Given the description of an element on the screen output the (x, y) to click on. 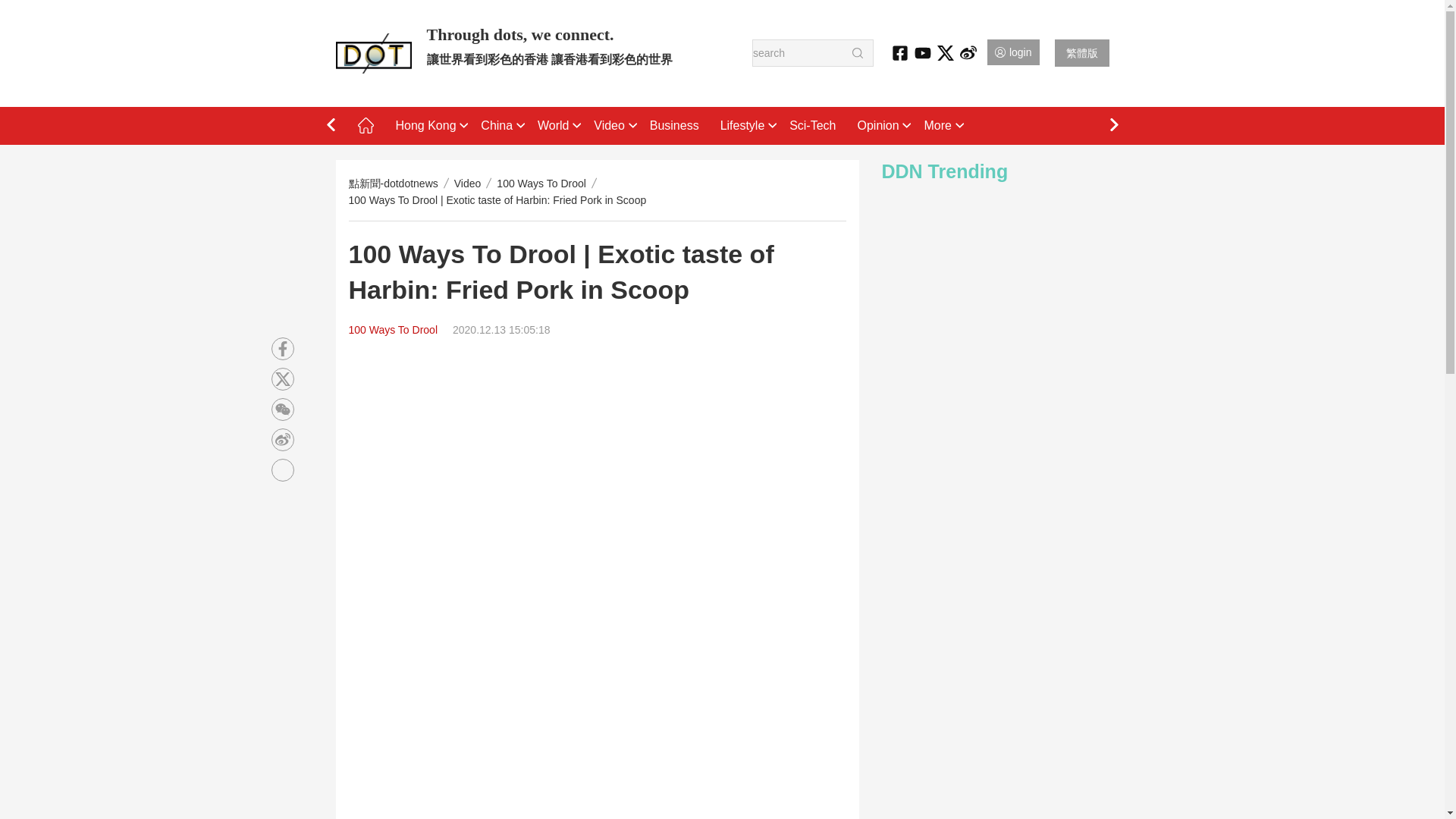
Hong Kong (427, 125)
login (1013, 52)
Log In (1013, 52)
China (498, 125)
Hong Kong (427, 125)
China (498, 125)
World (555, 125)
Video (611, 125)
World (555, 125)
